Given the description of an element on the screen output the (x, y) to click on. 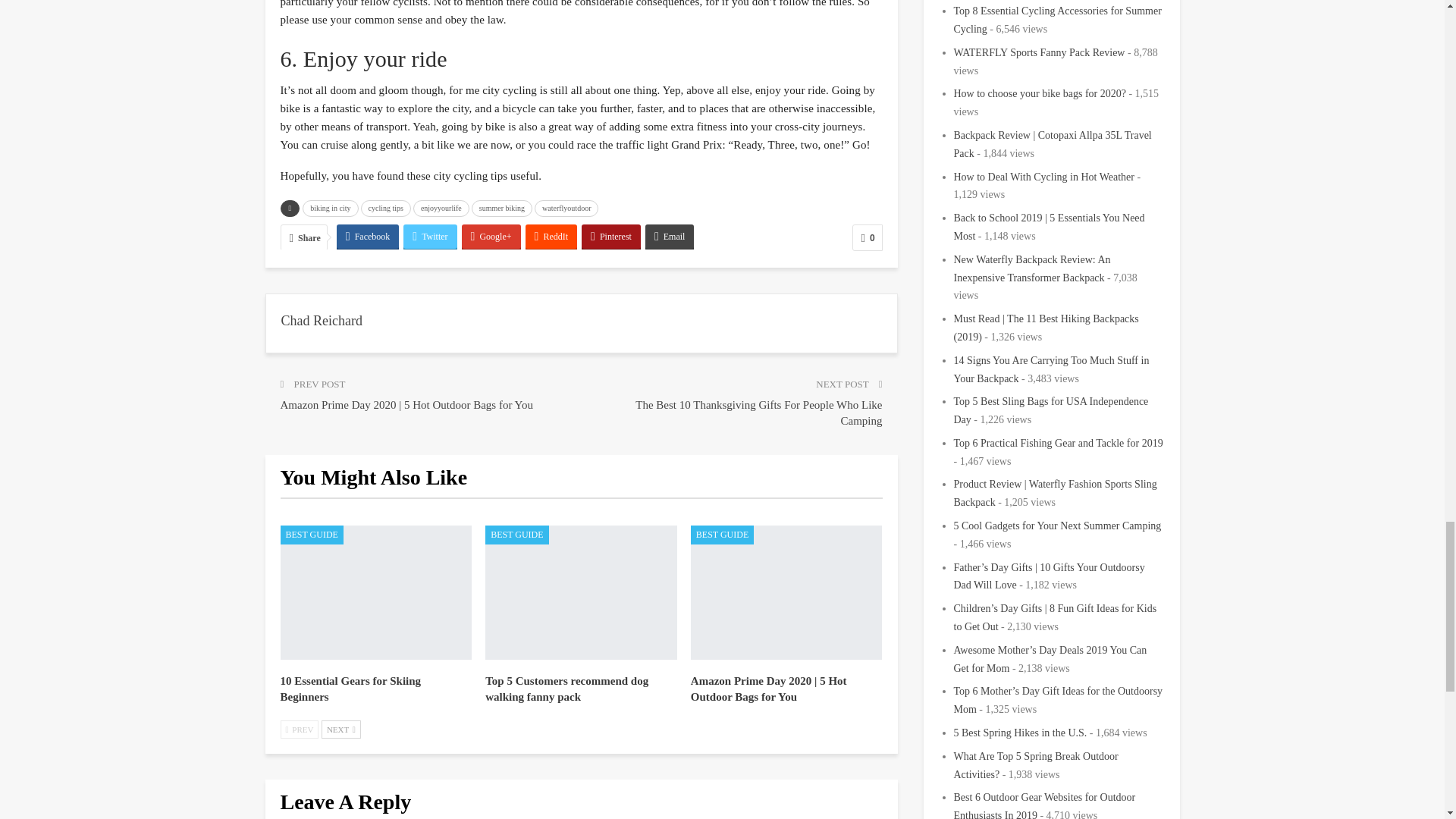
cycling tips (385, 208)
Previous (299, 729)
Top 5 Customers recommend dog walking fanny pack (580, 592)
10 Essential Gears for Skiing Beginners (351, 688)
enjoyyourlife (440, 208)
Top 5 Customers recommend dog walking fanny pack (565, 688)
biking in city (330, 208)
10 Essential Gears for Skiing Beginners (376, 592)
